Given the description of an element on the screen output the (x, y) to click on. 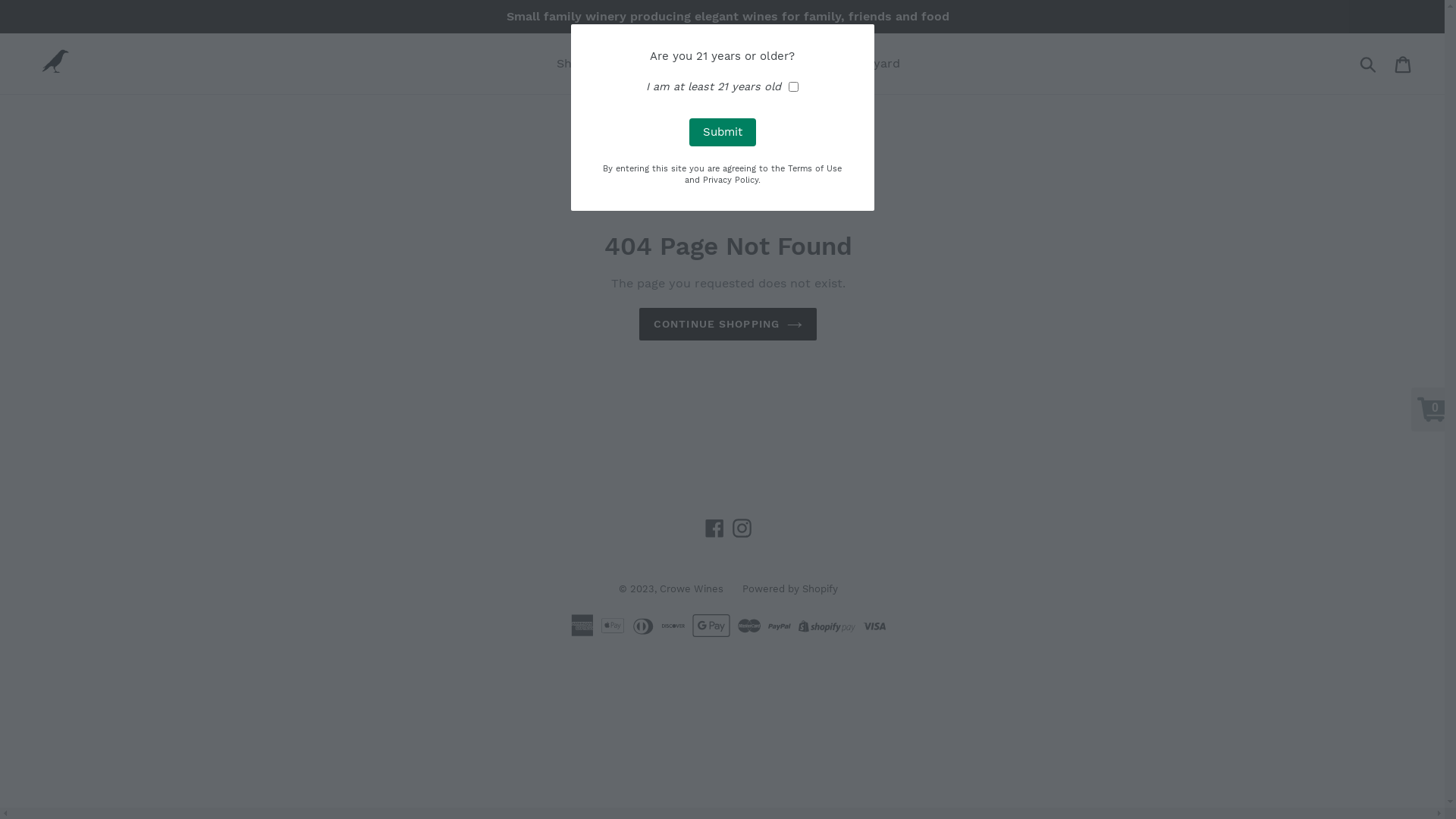
Cart Element type: text (1403, 64)
Shop Element type: text (571, 63)
Crowe Vineyard Element type: text (853, 63)
Submit Element type: text (1368, 63)
Contact Element type: text (763, 63)
Instagram Element type: text (741, 528)
Powered by Shopify Element type: text (789, 588)
About Element type: text (702, 63)
Crowe Wines Element type: text (691, 588)
Facebook Element type: text (713, 528)
Submit Element type: text (721, 132)
Wine Club Element type: text (634, 63)
CONTINUE SHOPPING Element type: text (727, 323)
